Given the description of an element on the screen output the (x, y) to click on. 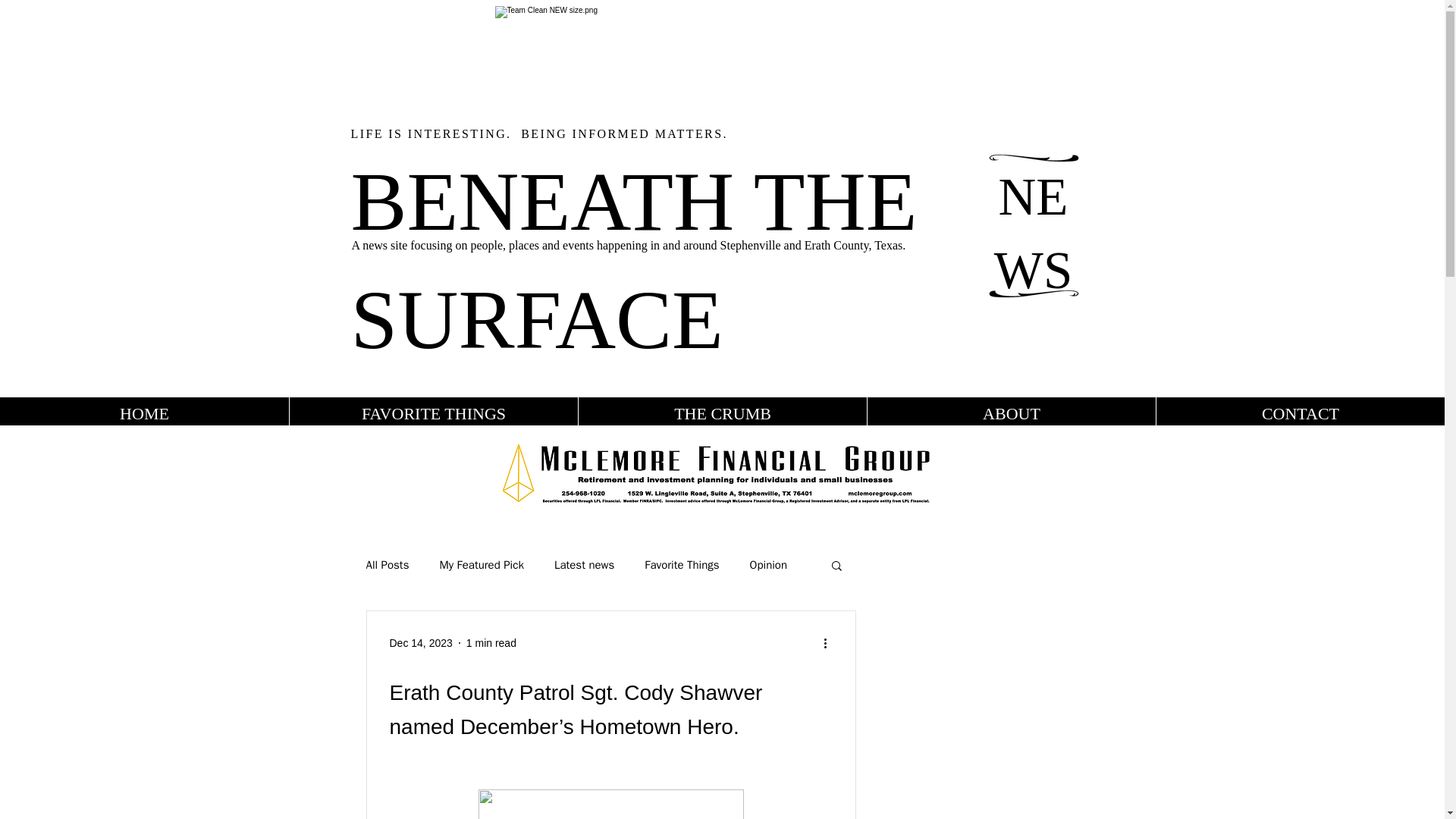
All Posts (387, 564)
FAVORITE THINGS (433, 413)
BENEATH THE SURFACE (633, 259)
THE CRUMB (722, 413)
Favorite Things (682, 564)
Opinion (768, 564)
My Featured Pick (480, 564)
1 min read (490, 643)
ABOUT (1011, 413)
Dec 14, 2023 (421, 643)
